Given the description of an element on the screen output the (x, y) to click on. 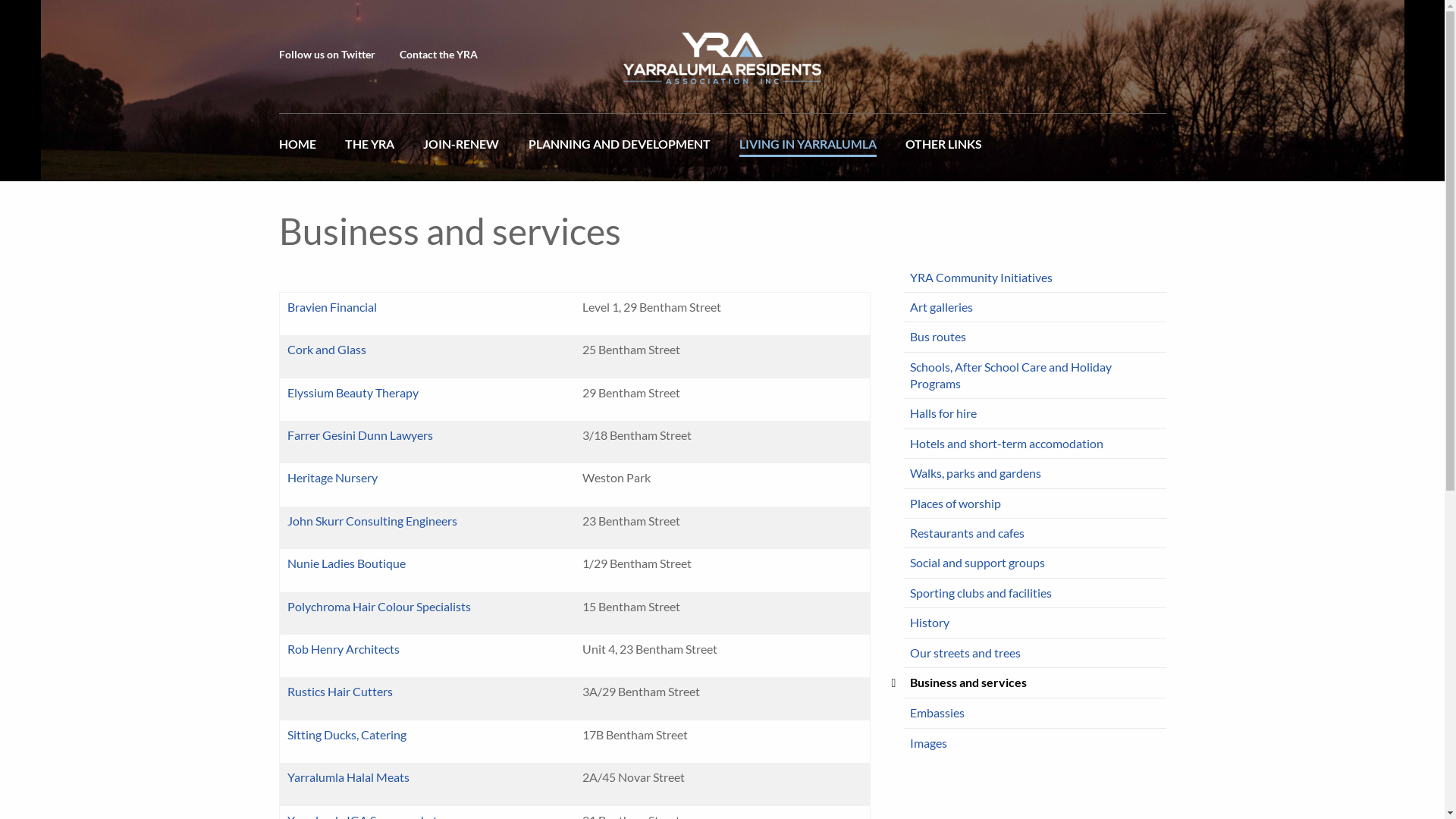
Rob Henry Architects Element type: text (342, 648)
PLANNING AND DEVELOPMENT Element type: text (618, 147)
Elyssium Beauty Therapy Element type: text (351, 392)
Places of worship Element type: text (1034, 503)
Art galleries Element type: text (1034, 307)
Polychroma Hair Colour Specialists Element type: text (378, 606)
Cork and Glass Element type: text (325, 349)
THE YRA Element type: text (369, 147)
YRA Community Initiatives Element type: text (1034, 277)
Sitting Ducks, Catering Element type: text (345, 734)
Bravien Financial Element type: text (331, 306)
Restaurants and cafes Element type: text (1034, 533)
History Element type: text (1034, 622)
Halls for hire Element type: text (1034, 413)
John Skurr Consulting Engineers Element type: text (371, 520)
Yarralumla Halal Meats Element type: text (347, 776)
Our streets and trees Element type: text (1034, 653)
Follow us on Twitter Element type: text (327, 55)
Rustics Hair Cutters Element type: text (339, 691)
Embassies Element type: text (1034, 713)
Heritage Nursery Element type: text (331, 477)
Farrer Gesini Dunn Lawyers Element type: text (359, 434)
Bus routes Element type: text (1034, 336)
Business and services Element type: text (1034, 683)
Social and support groups Element type: text (1034, 562)
Hotels and short-term accomodation Element type: text (1034, 443)
Walks, parks and gardens Element type: text (1034, 473)
Contact the YRA Element type: text (437, 55)
JOIN-RENEW Element type: text (460, 147)
HOME Element type: text (304, 147)
Sporting clubs and facilities Element type: text (1034, 593)
Schools, After School Care and Holiday Programs Element type: text (1034, 375)
OTHER LINKS Element type: text (943, 147)
Images Element type: text (1034, 742)
Nunie Ladies Boutique Element type: text (345, 562)
LIVING IN YARRALUMLA Element type: text (807, 147)
